Given the description of an element on the screen output the (x, y) to click on. 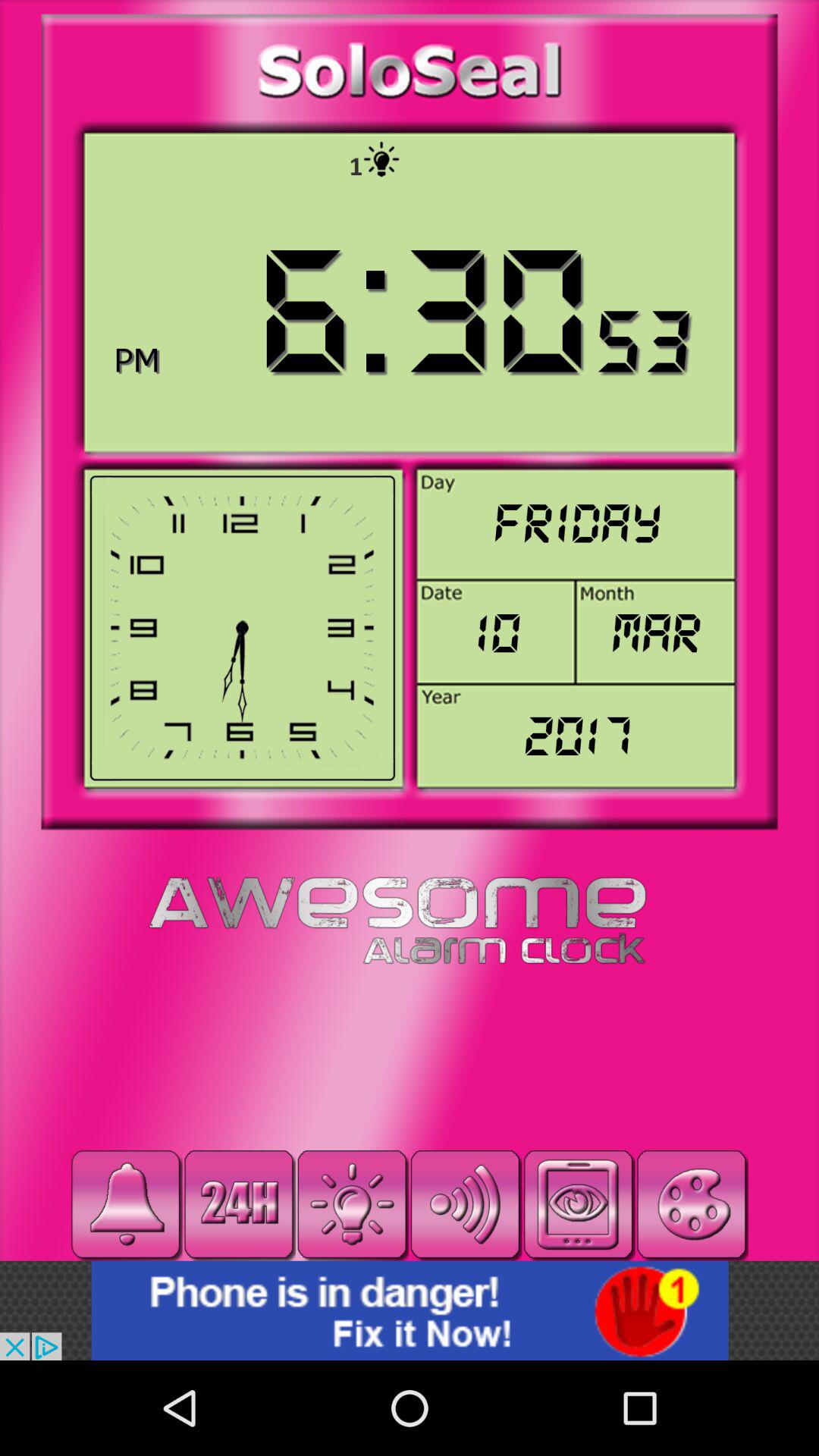
temperature (351, 1203)
